Given the description of an element on the screen output the (x, y) to click on. 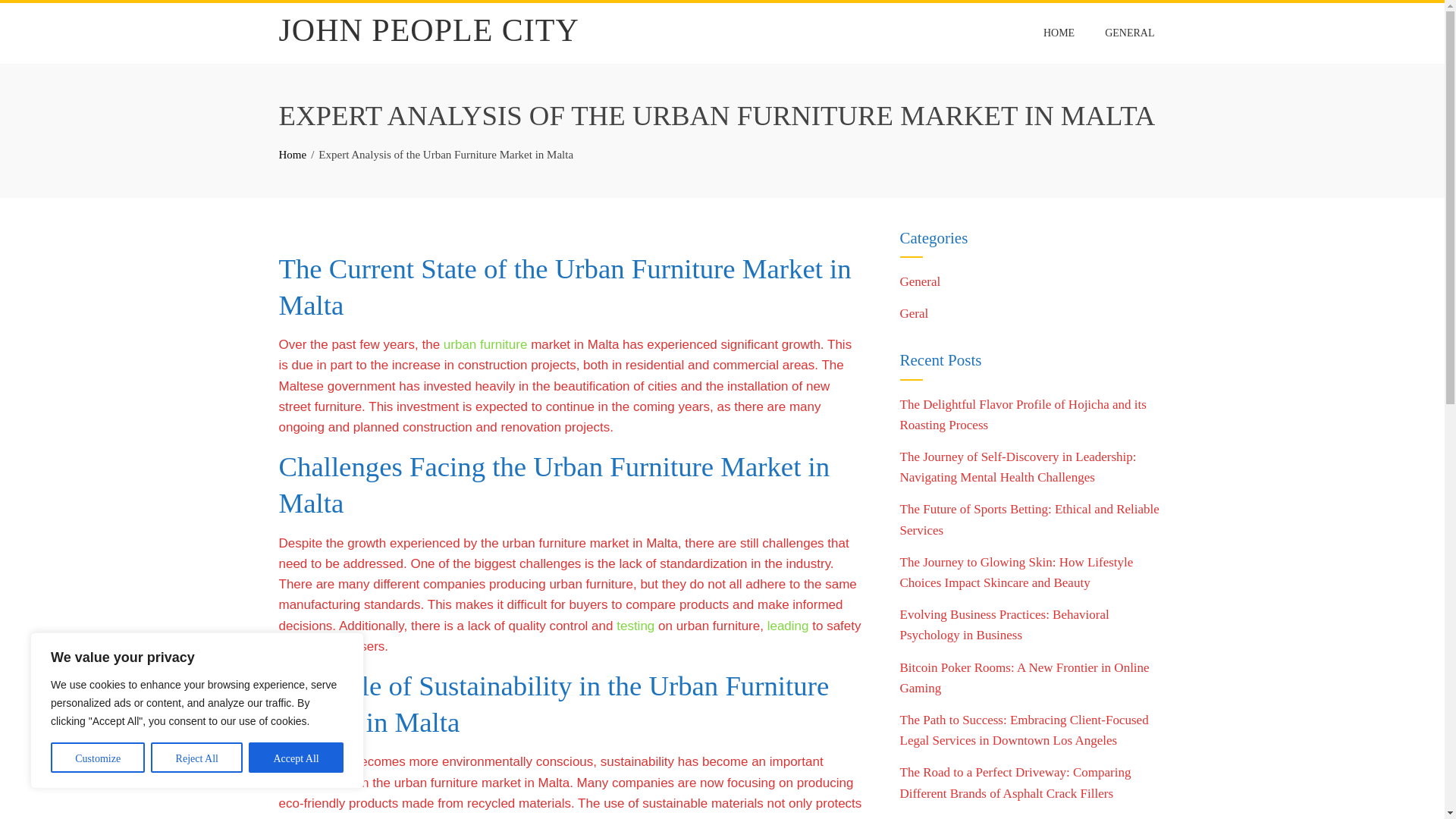
urban furniture (485, 344)
Home (293, 154)
GENERAL (1129, 32)
The Future of Sports Betting: Ethical and Reliable Services (1028, 519)
Bitcoin Poker Rooms: A New Frontier in Online Gaming (1023, 677)
Reject All (197, 757)
JOHN PEOPLE CITY (429, 30)
leading (788, 626)
Geral (913, 313)
HOME (1059, 32)
Accept All (295, 757)
General (919, 281)
